Given the description of an element on the screen output the (x, y) to click on. 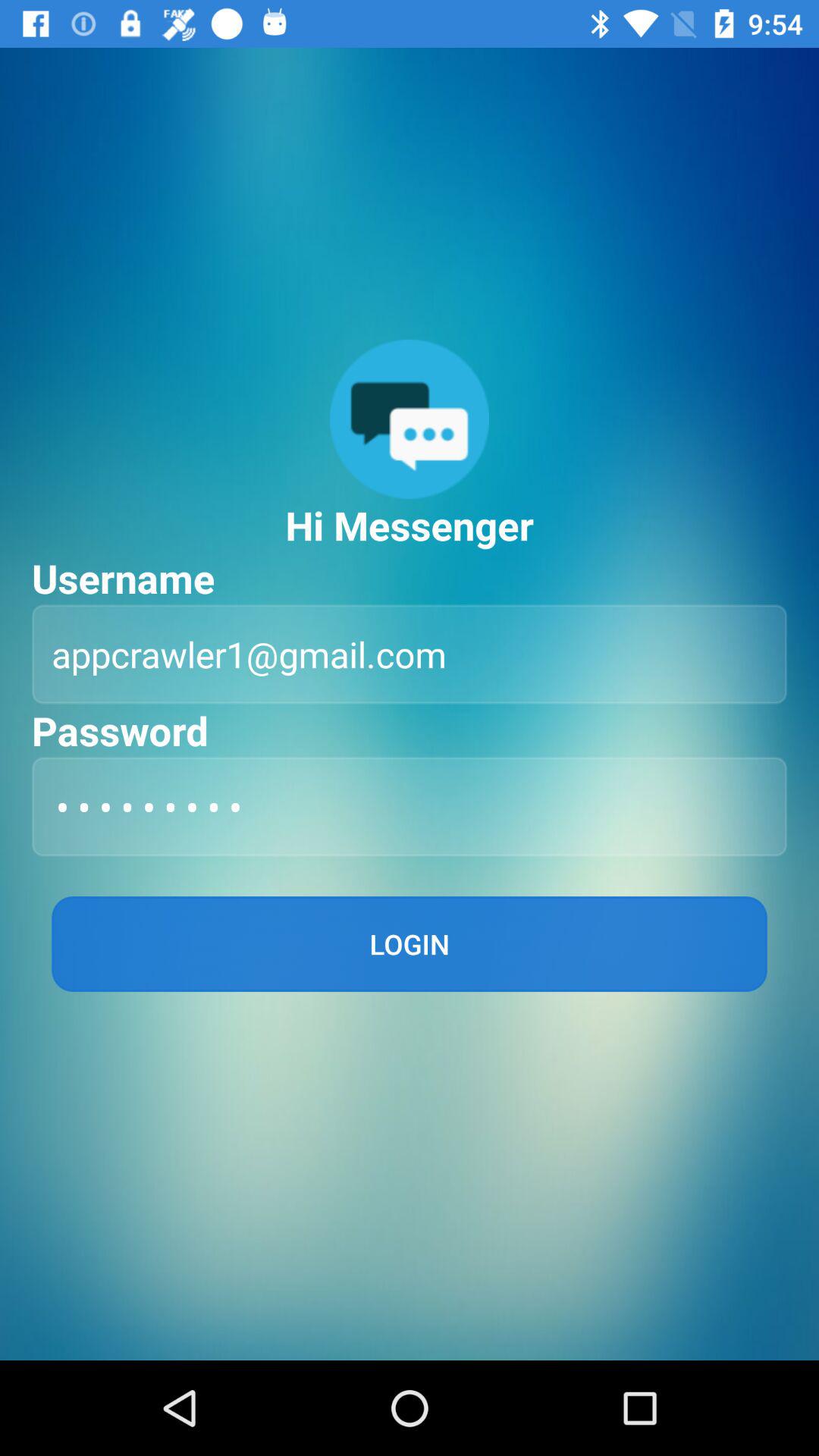
turn off the item below the username icon (409, 654)
